Given the description of an element on the screen output the (x, y) to click on. 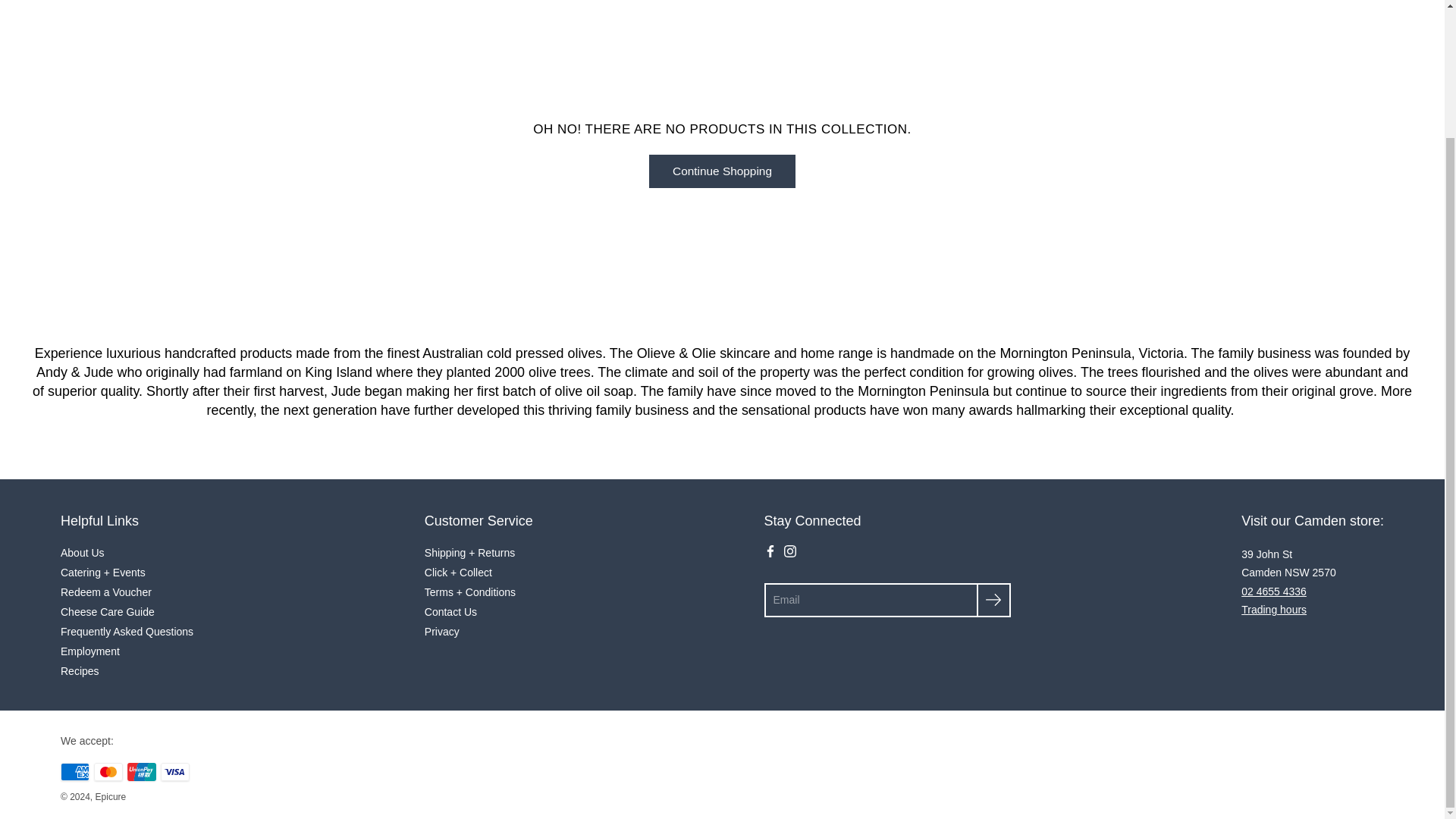
Mastercard (108, 771)
02 4655 4336 (1273, 591)
Contact Us (1273, 609)
American Express (74, 771)
Union Pay (141, 771)
Visa (174, 771)
